Given the description of an element on the screen output the (x, y) to click on. 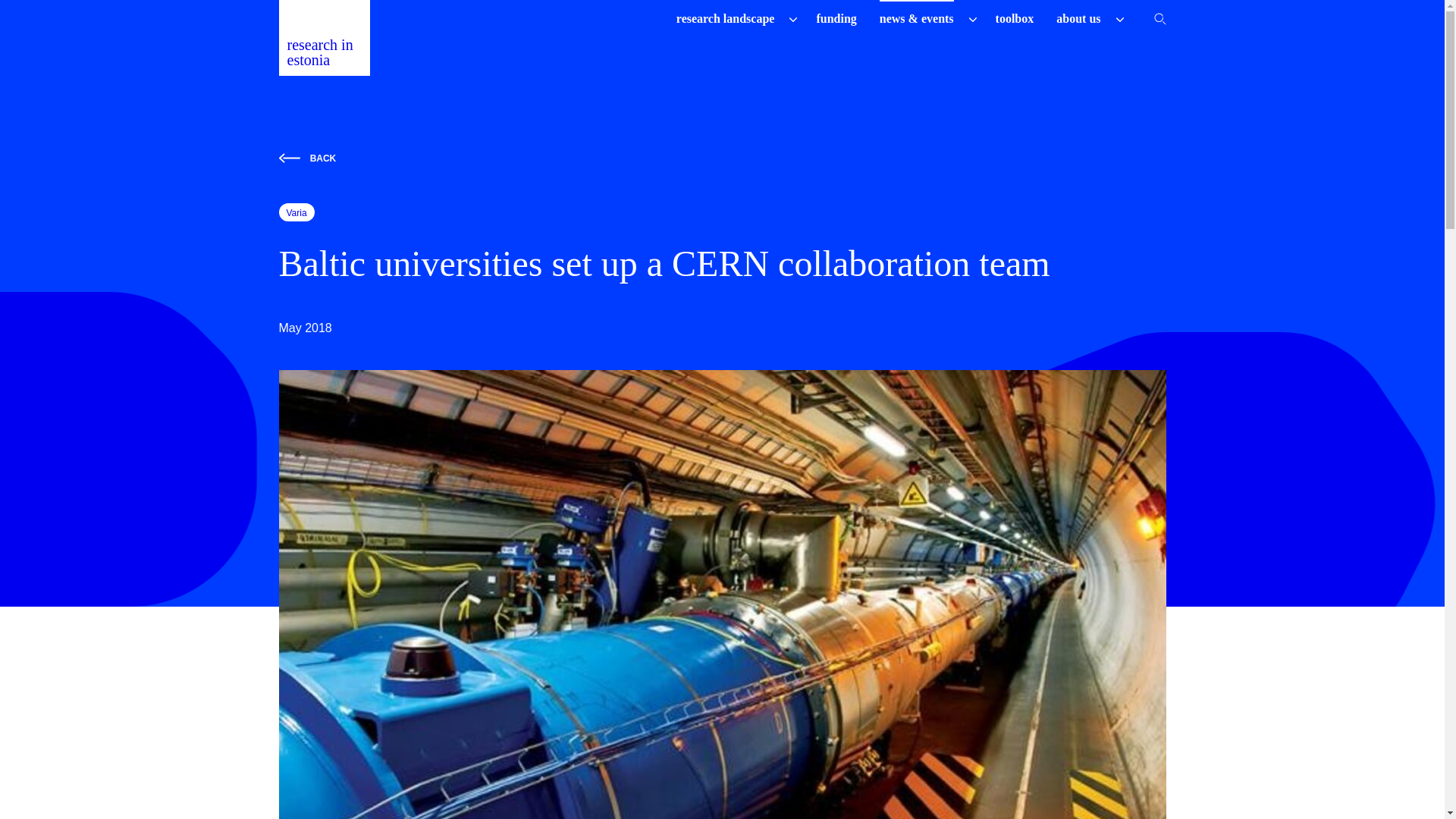
BACK (722, 158)
funding (835, 18)
about us (1078, 18)
toolbox (1014, 18)
research in estonia (324, 38)
research landscape (725, 18)
Varia (296, 212)
